Given the description of an element on the screen output the (x, y) to click on. 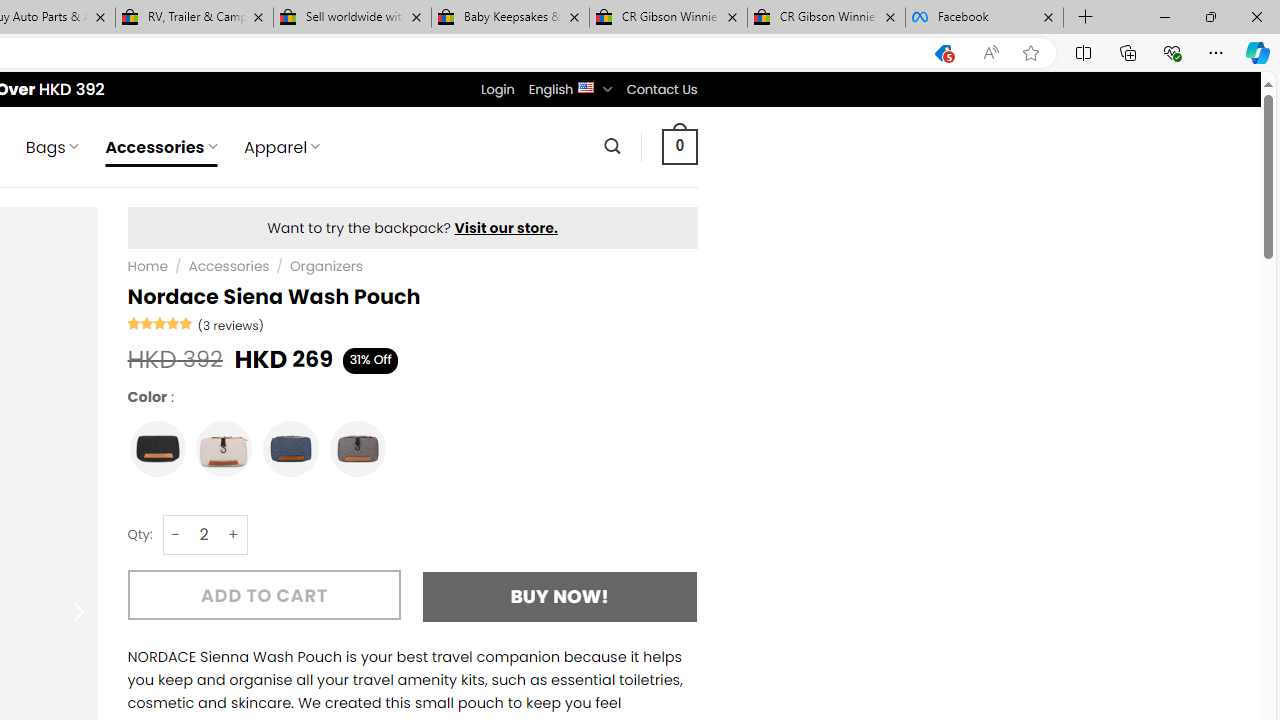
Login (497, 89)
